Given the description of an element on the screen output the (x, y) to click on. 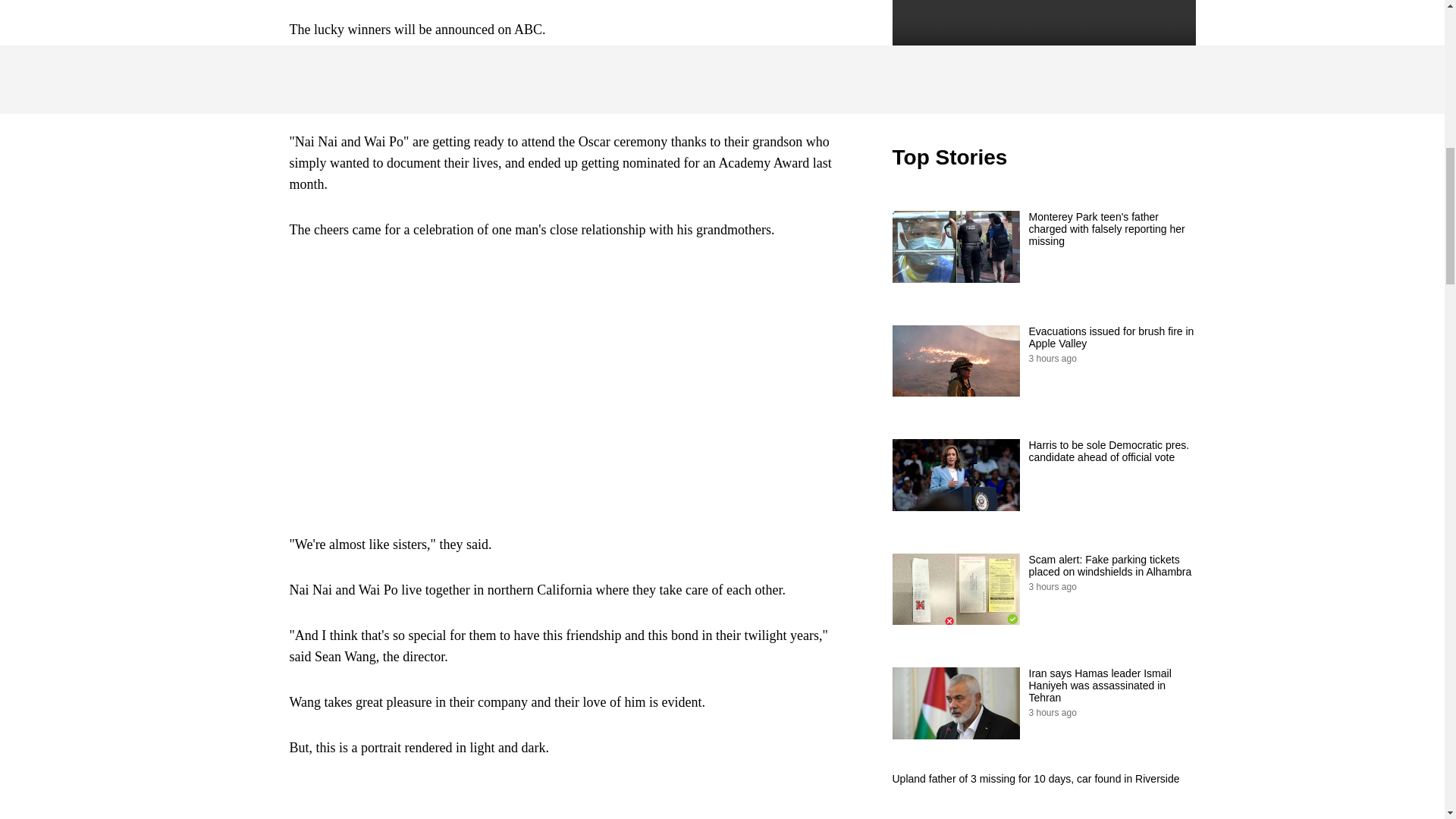
video.title (1043, 48)
